Given the description of an element on the screen output the (x, y) to click on. 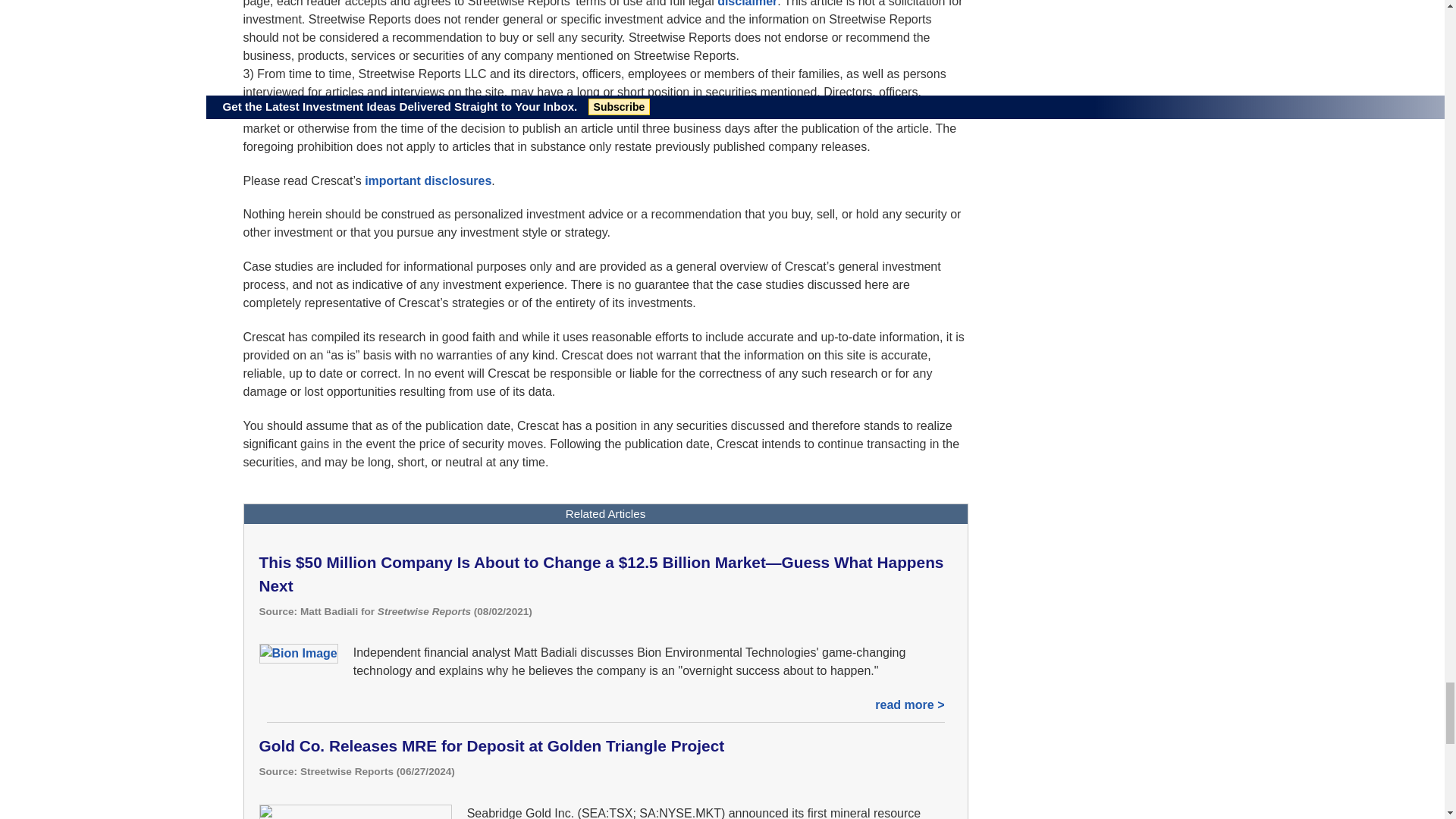
GoldCoresAdobeNewforSEA.jpg (355, 811)
Bion Image (298, 653)
